Given the description of an element on the screen output the (x, y) to click on. 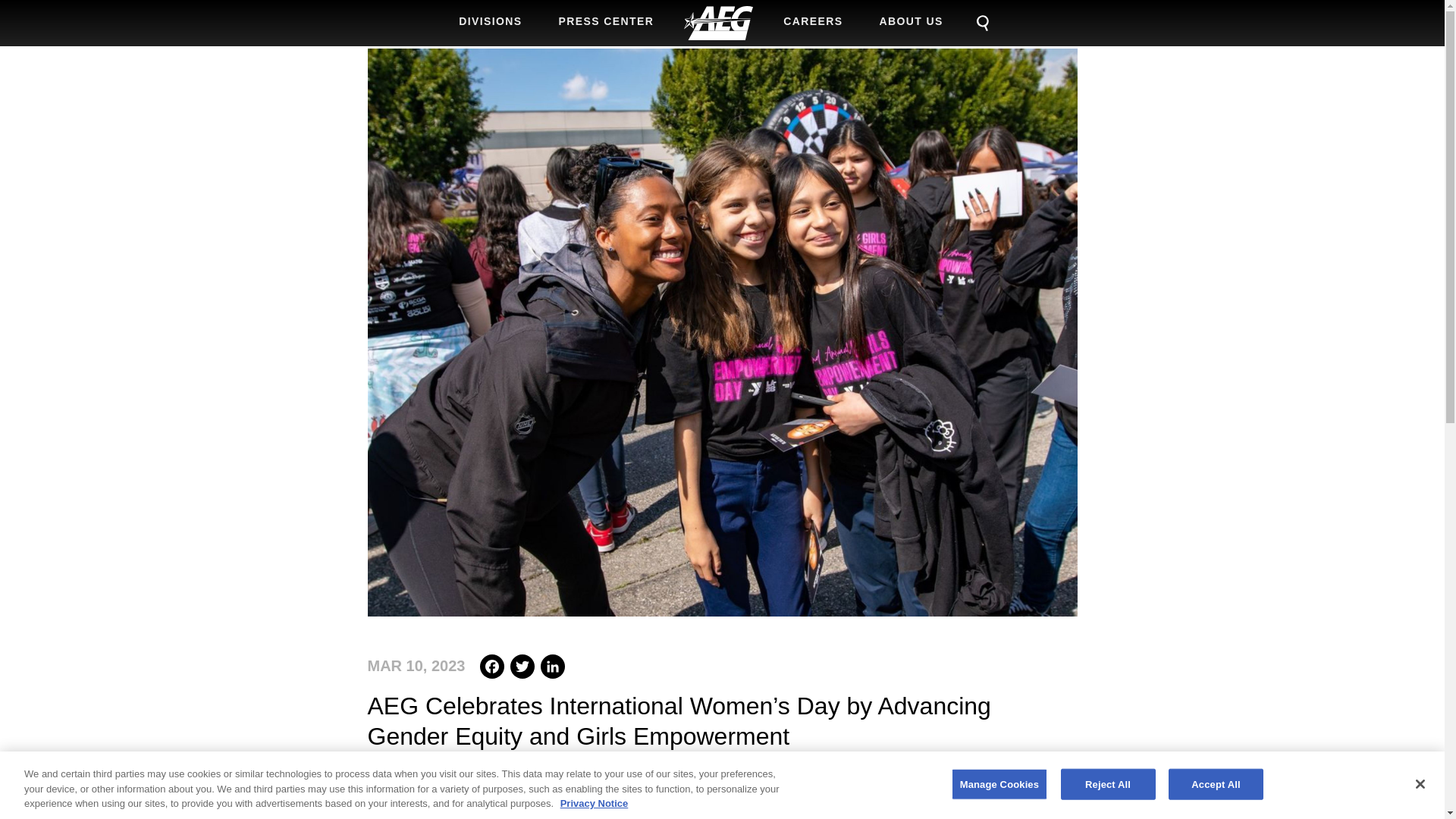
DIVISIONS (490, 21)
ABOUT US (910, 21)
CAREERS (812, 21)
PRESS CENTER (606, 21)
